Given the description of an element on the screen output the (x, y) to click on. 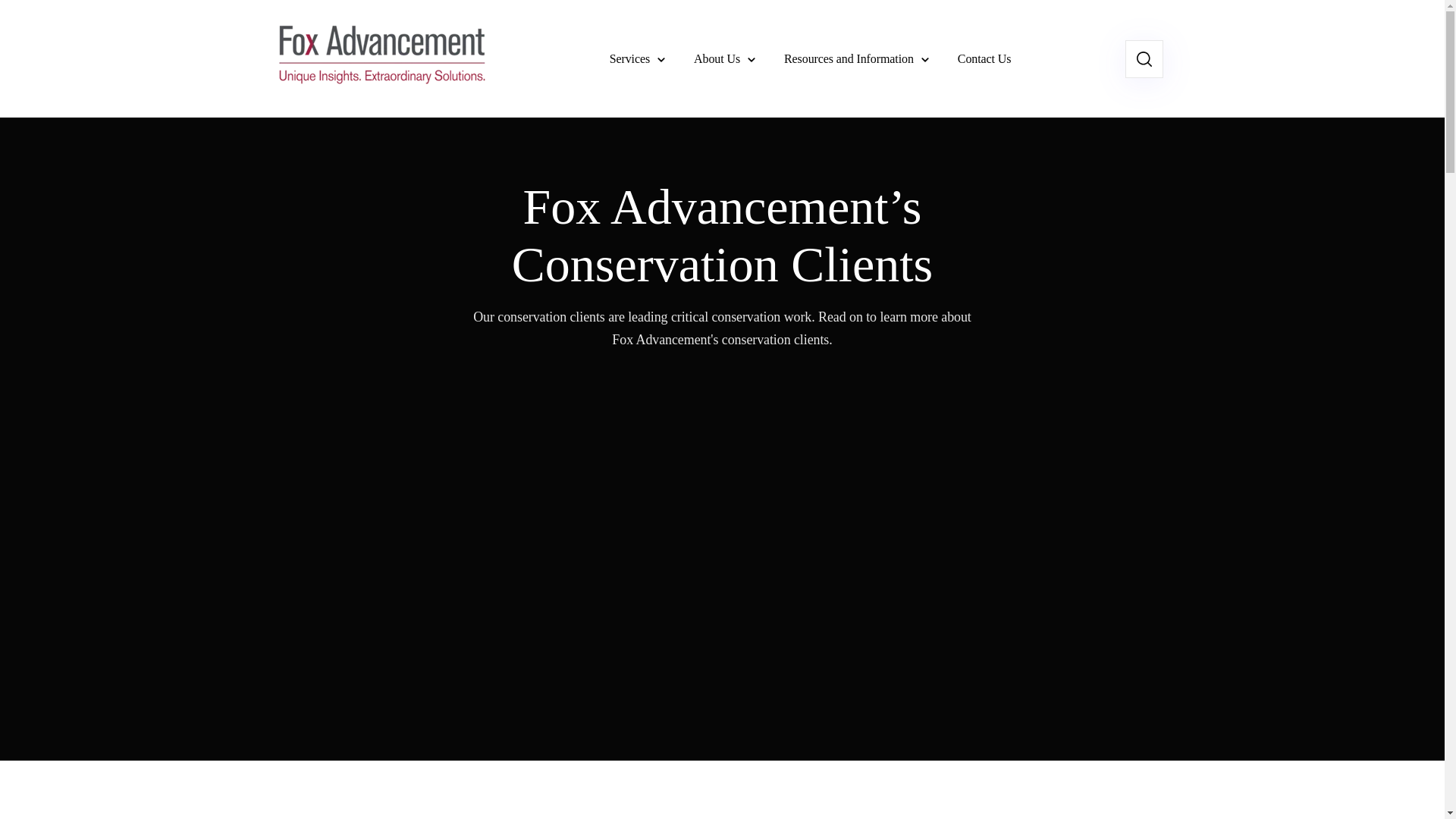
Resources and Information (856, 58)
About Us (724, 58)
Transparent rectangle (377, 58)
Services (637, 58)
